Given the description of an element on the screen output the (x, y) to click on. 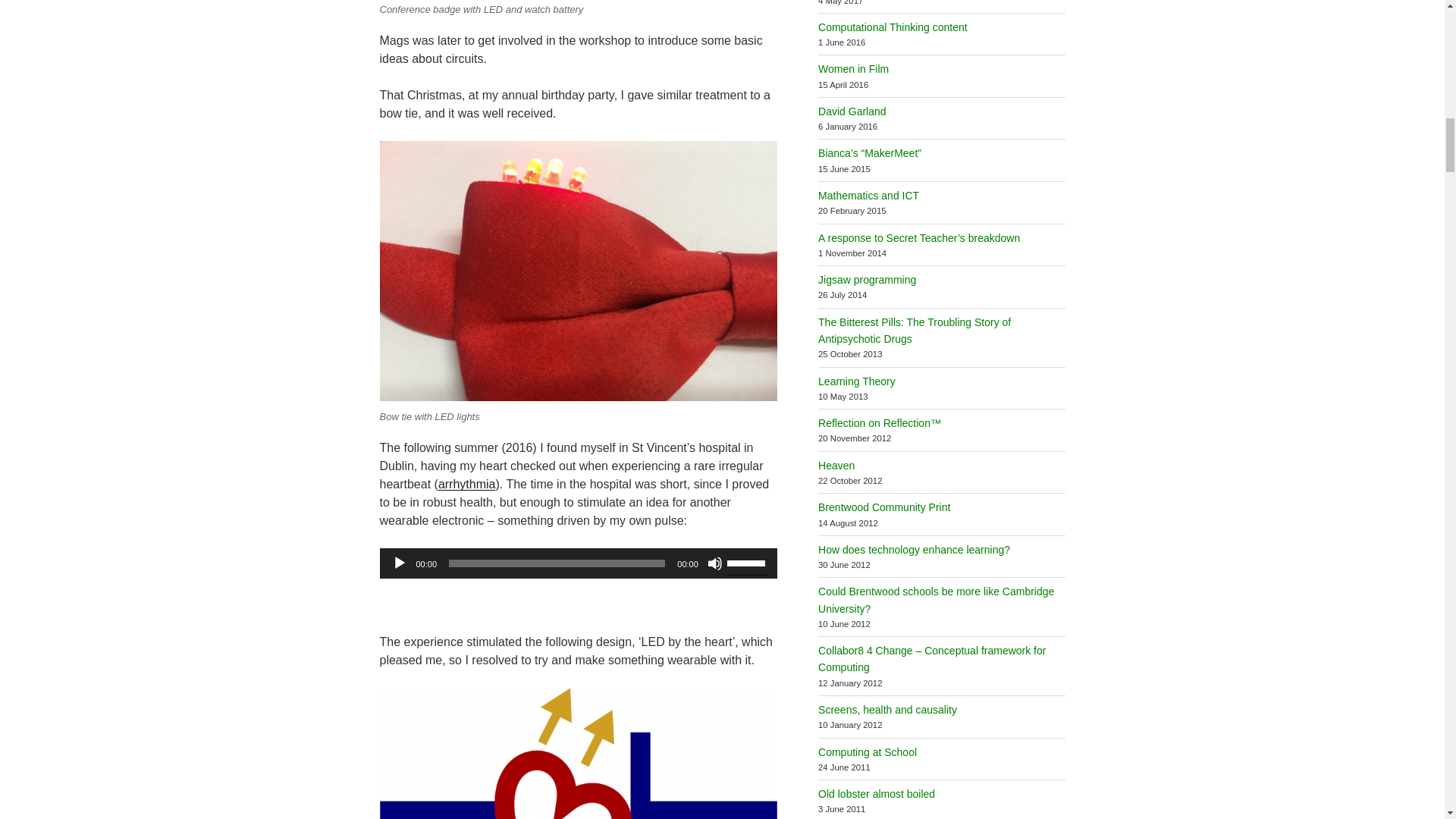
arrhythmia (467, 483)
Mute (714, 563)
Play (398, 563)
